Given the description of an element on the screen output the (x, y) to click on. 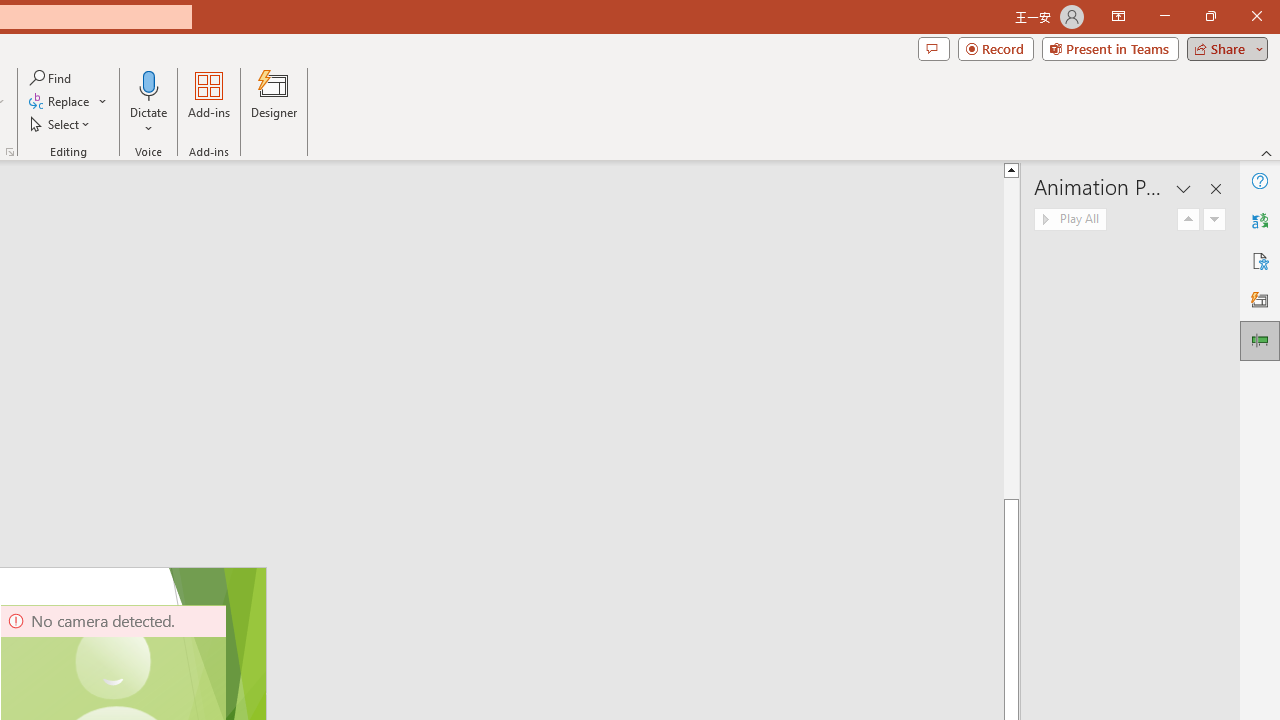
Animation Pane (1260, 340)
Play All (1070, 219)
